Given the description of an element on the screen output the (x, y) to click on. 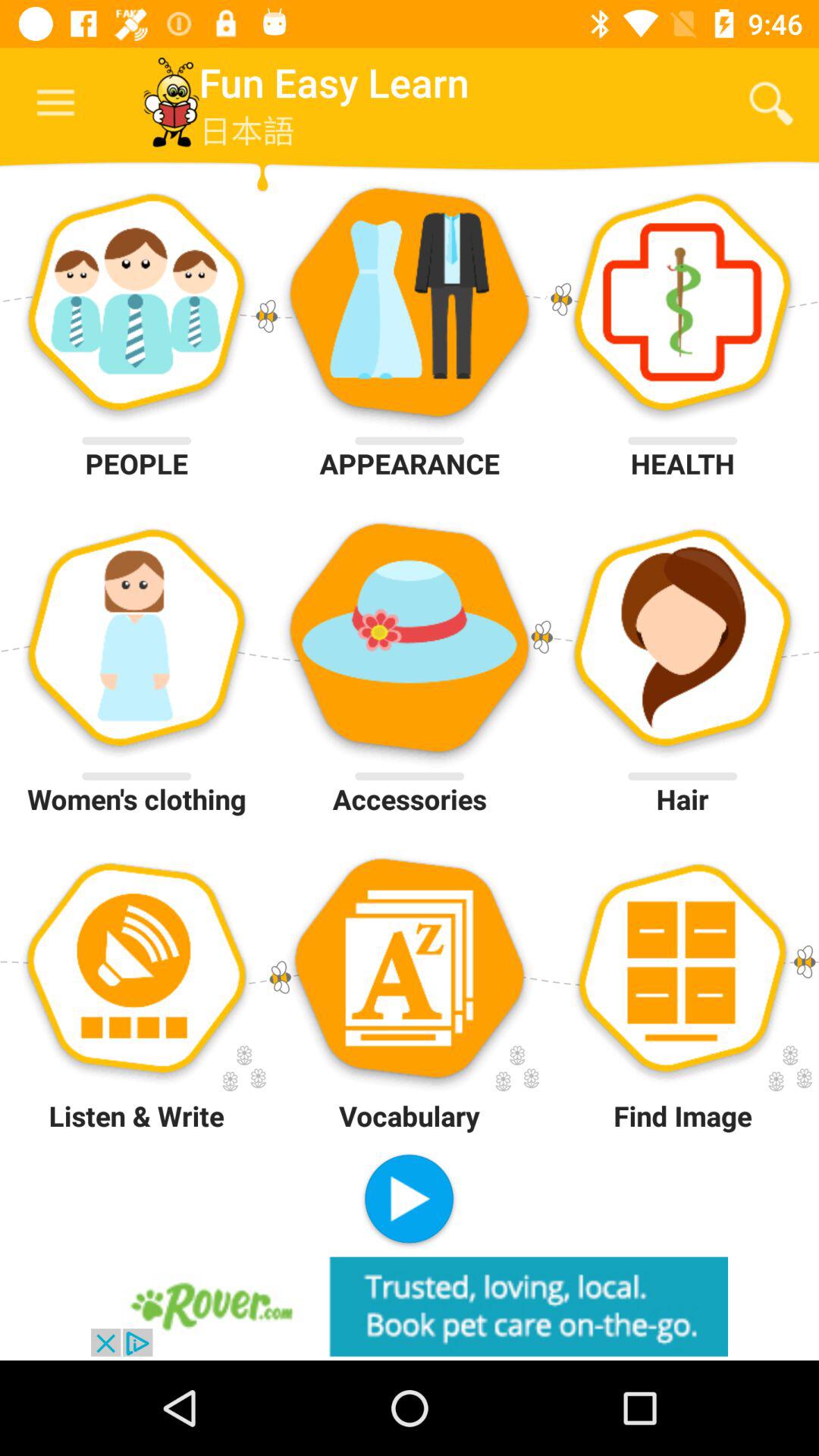
advertisement button (409, 1306)
